Given the description of an element on the screen output the (x, y) to click on. 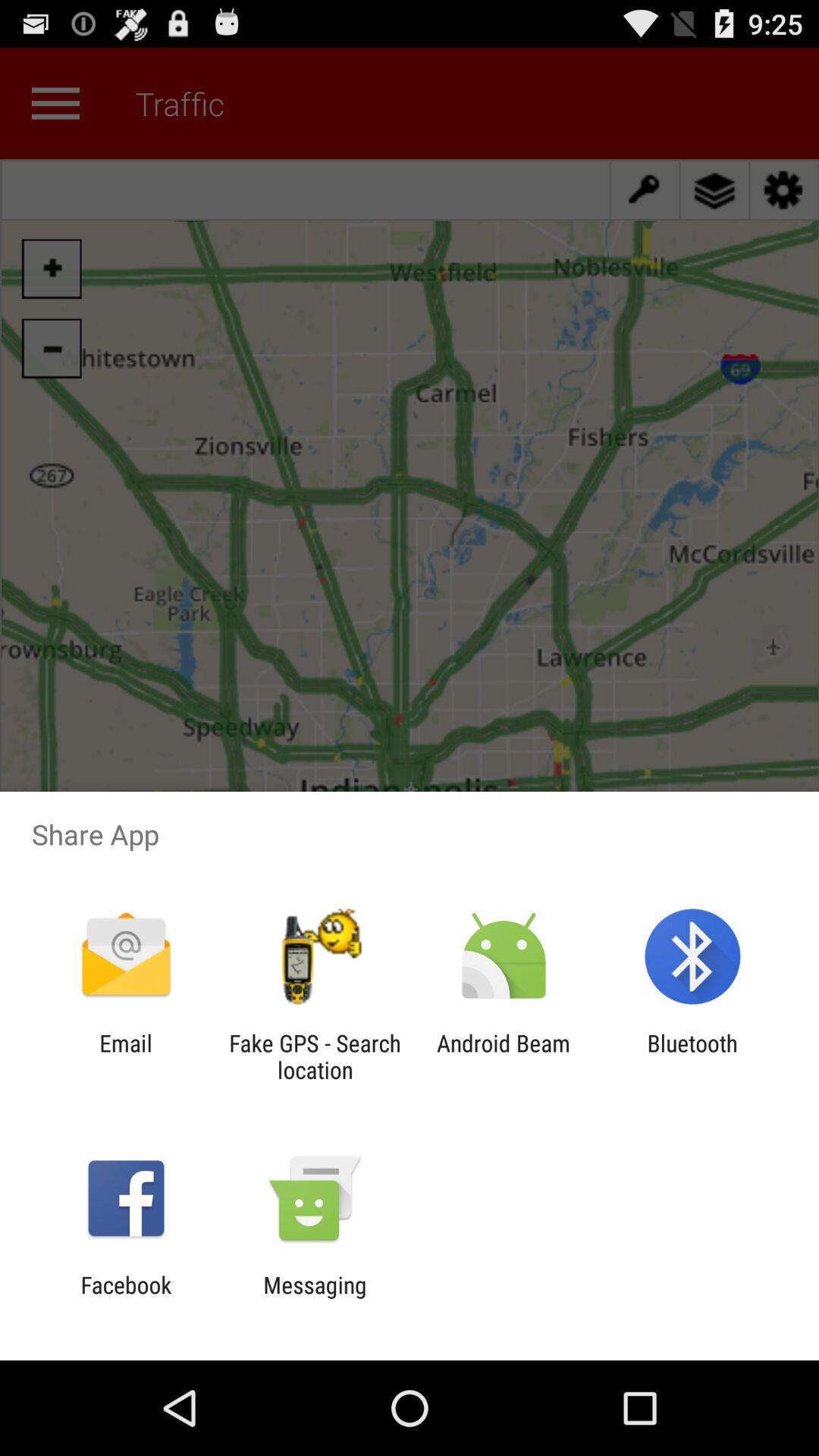
click icon to the left of messaging app (125, 1298)
